Given the description of an element on the screen output the (x, y) to click on. 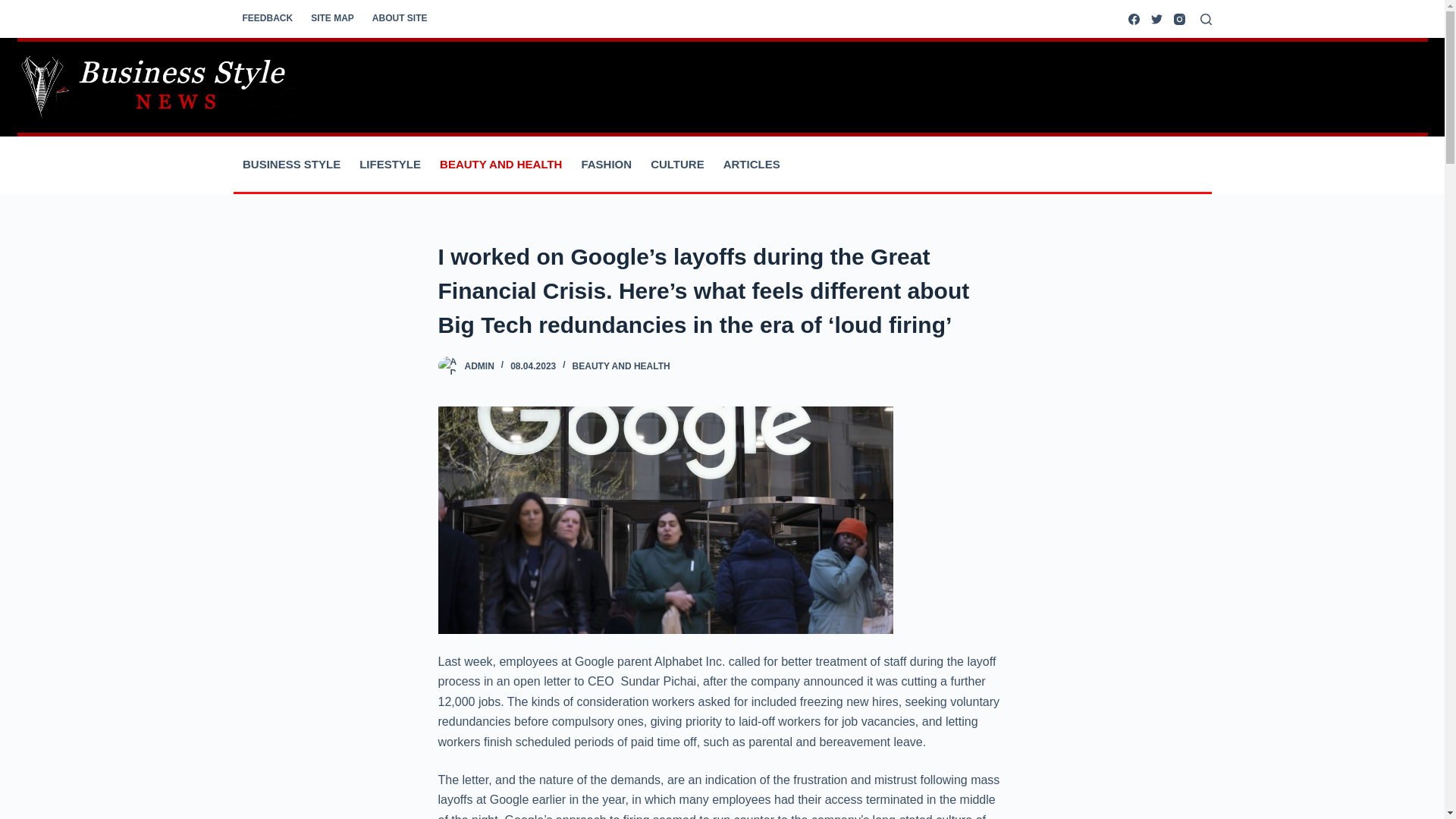
ARTICLES (751, 163)
SITE MAP (331, 18)
LIFESTYLE (390, 163)
Posts by admin (478, 366)
FEEDBACK (267, 18)
BEAUTY AND HEALTH (501, 163)
CULTURE (678, 163)
ABOUT SITE (399, 18)
ADMIN (478, 366)
BUSINESS STYLE (291, 163)
BEAUTY AND HEALTH (620, 366)
FASHION (607, 163)
Skip to content (15, 7)
